Given the description of an element on the screen output the (x, y) to click on. 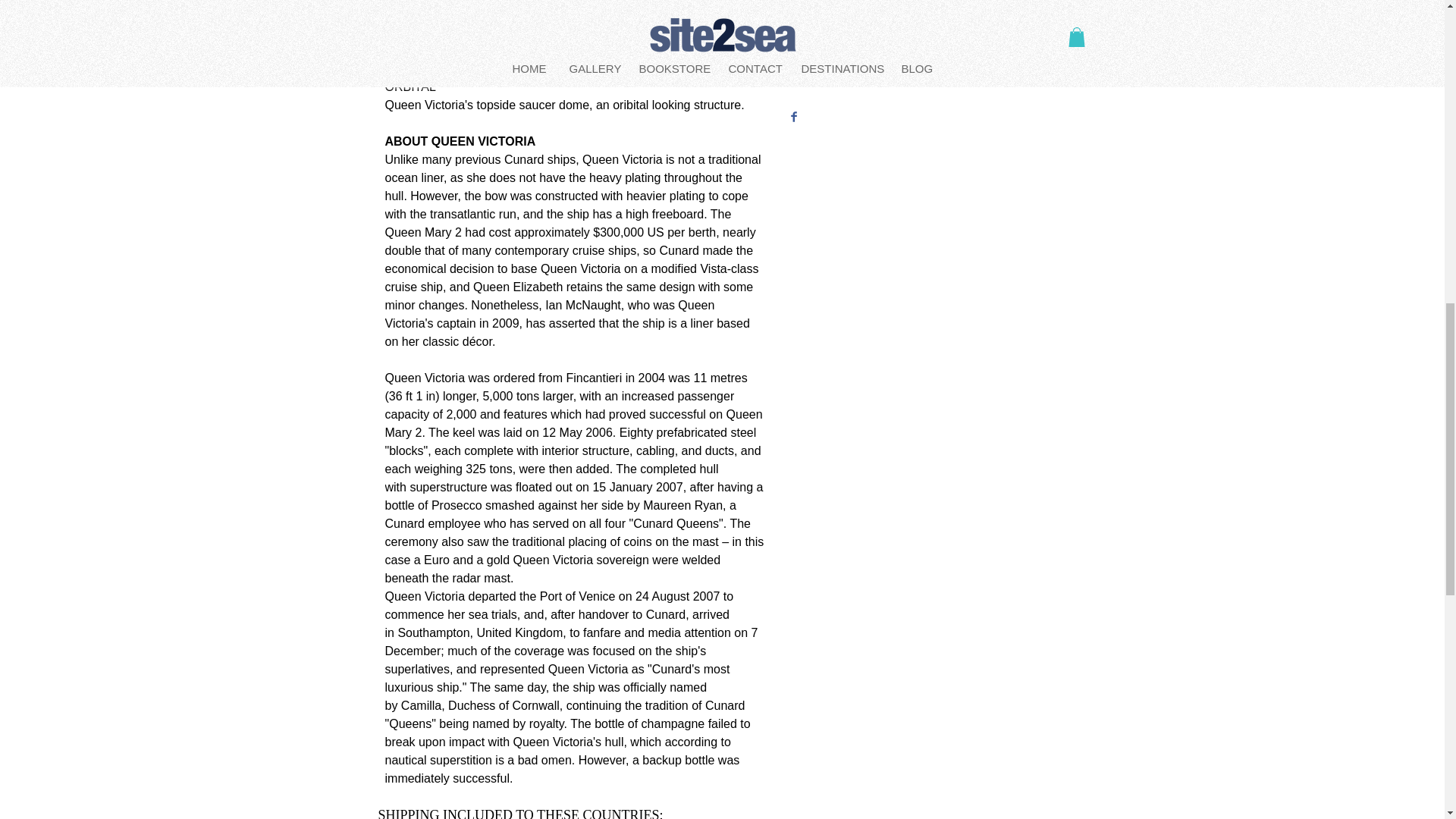
PRINT SIZE (924, 6)
